Given the description of an element on the screen output the (x, y) to click on. 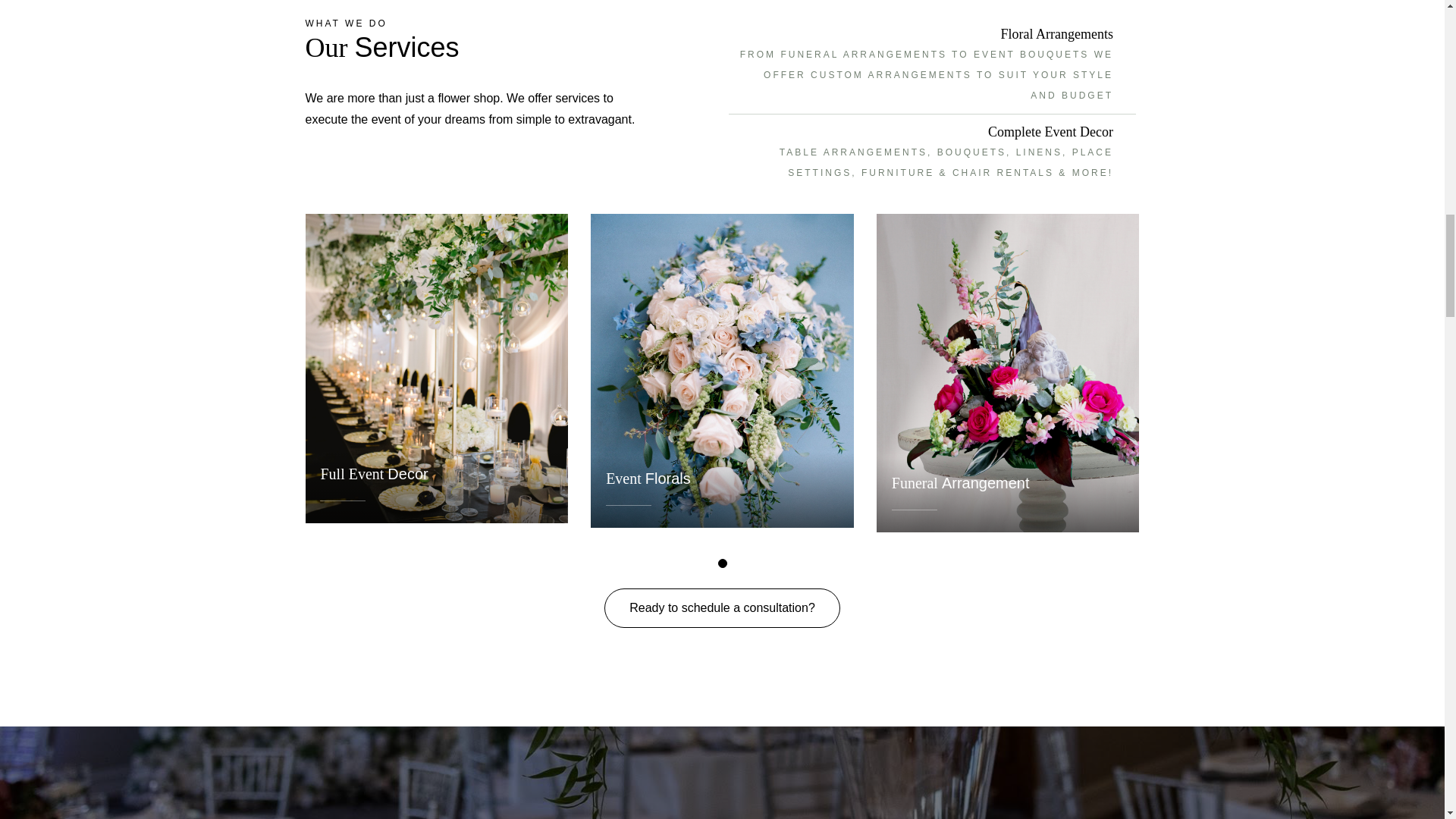
VIEW OUR ARRANGEMENTS (1041, 536)
Funeral Arrangement (960, 482)
Full Event Decor (374, 473)
VIEW OUR BOUQUETS (771, 531)
Event Florals (647, 477)
VIEW OUR WEDDINGS (486, 527)
Ready to schedule a consultation? (722, 608)
